Given the description of an element on the screen output the (x, y) to click on. 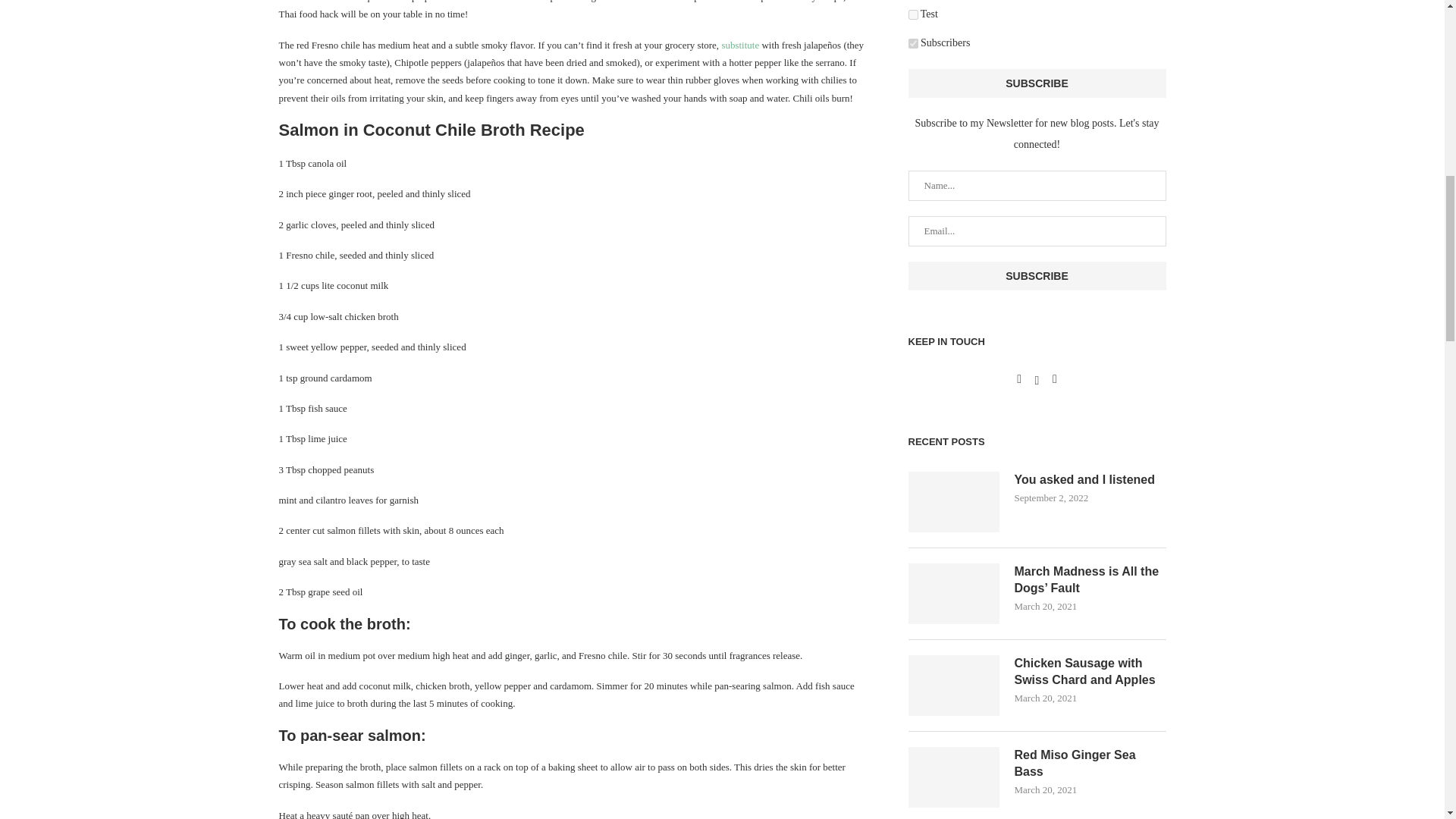
7cd0e5dff5 (913, 43)
6b02a2f8e2 (913, 14)
Subscribe (1037, 275)
You asked and I listened (953, 501)
Subscribe (1037, 82)
